Given the description of an element on the screen output the (x, y) to click on. 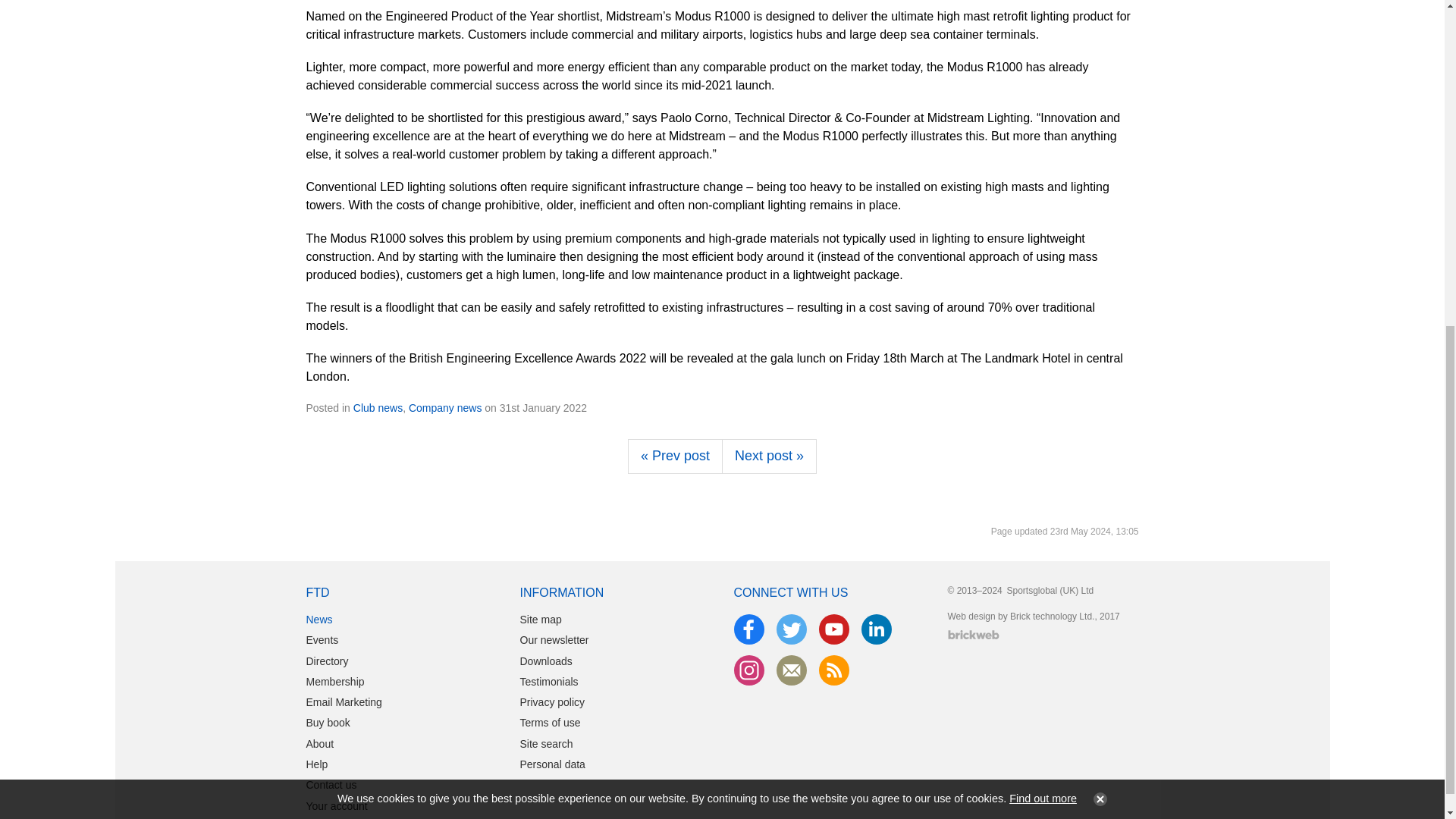
Twitter (791, 629)
LinkedIn (877, 629)
RSS (834, 670)
Website designed and maintained by Brick technology Ltd. (972, 634)
YouTube (834, 629)
Continue (1096, 247)
Facebook (749, 629)
Instagram (749, 670)
Newsletter (791, 670)
